Given the description of an element on the screen output the (x, y) to click on. 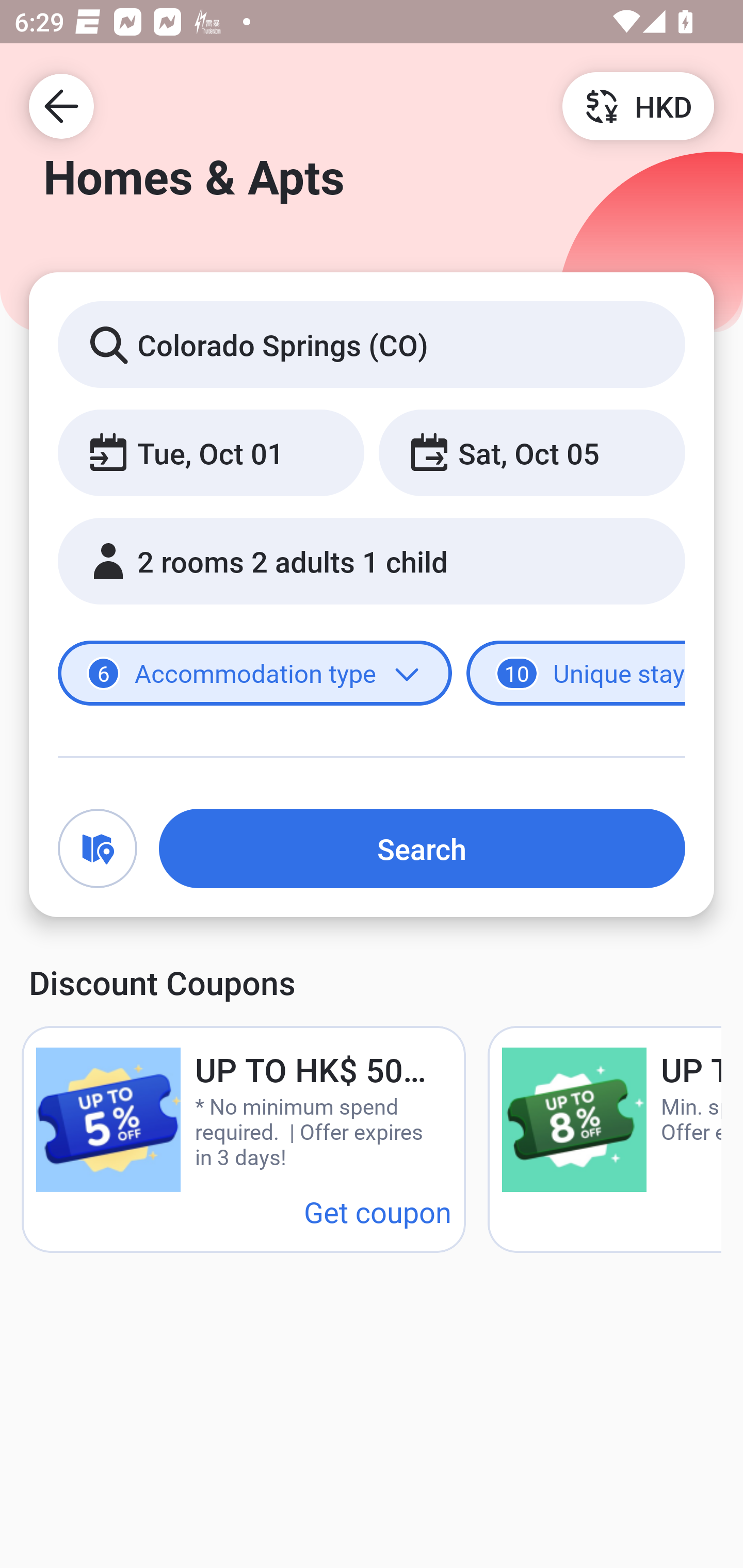
HKD (638, 105)
Colorado Springs (CO) (371, 344)
Tue, Oct 01 (210, 452)
Sat, Oct 05 (531, 452)
2 rooms 2 adults 1 child (371, 561)
6 Accommodation type (254, 673)
10 Unique stays (575, 673)
Search (422, 848)
Get coupon (377, 1211)
